Given the description of an element on the screen output the (x, y) to click on. 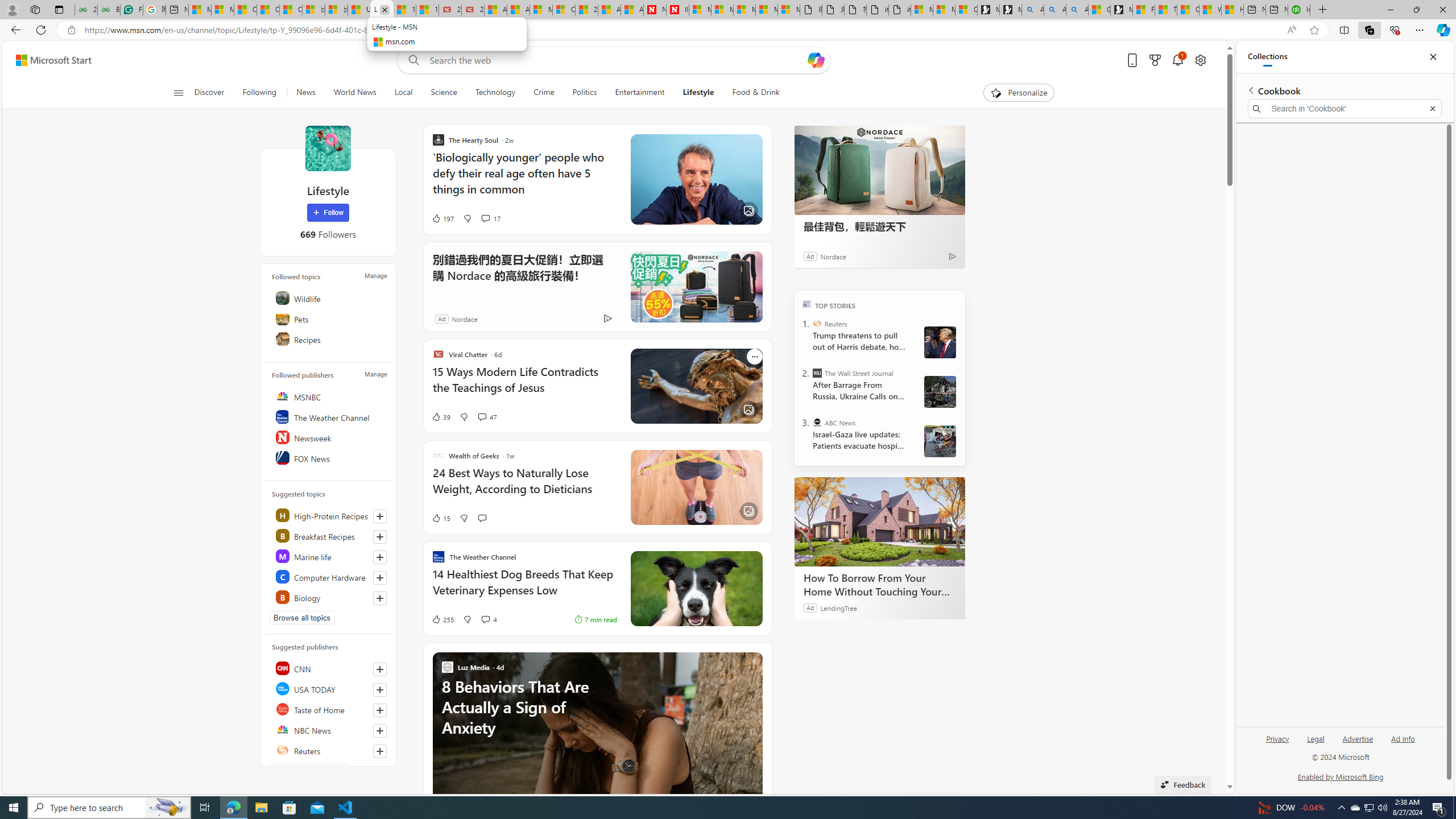
Restore (1416, 9)
Lifestyle - MSN (381, 9)
15 Ways Modern Life Contradicts the Teachings of Jesus (524, 385)
Open Copilot (815, 59)
197 Like (442, 218)
Technology (495, 92)
Lifestyle (327, 148)
Follow (328, 212)
Tab actions menu (58, 9)
Browser essentials (1394, 29)
Follow this topic (379, 597)
